Given the description of an element on the screen output the (x, y) to click on. 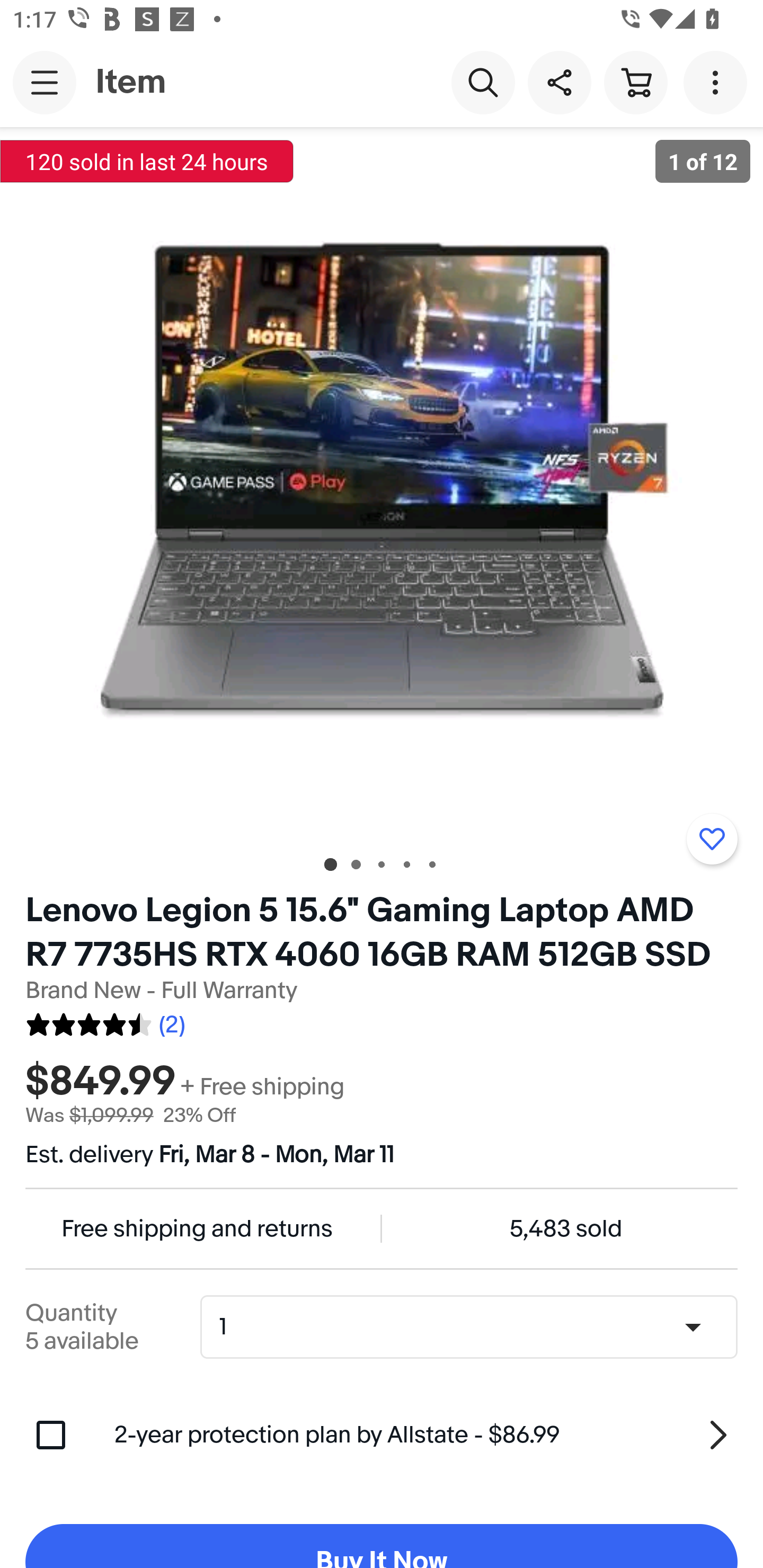
Main navigation, open (44, 82)
Search (482, 81)
Share this item (559, 81)
Cart button shopping cart (635, 81)
More options (718, 81)
Item image 1 of 12 (381, 482)
120 sold in last 24 hours (146, 161)
Add to watchlist (711, 838)
2 reviews. Average rating 4.5 out of five 9.0 (2) (104, 1021)
Quantity,1,5 available 1 (474, 1326)
2-year protection plan by Allstate - $86.99 (425, 1434)
